Given the description of an element on the screen output the (x, y) to click on. 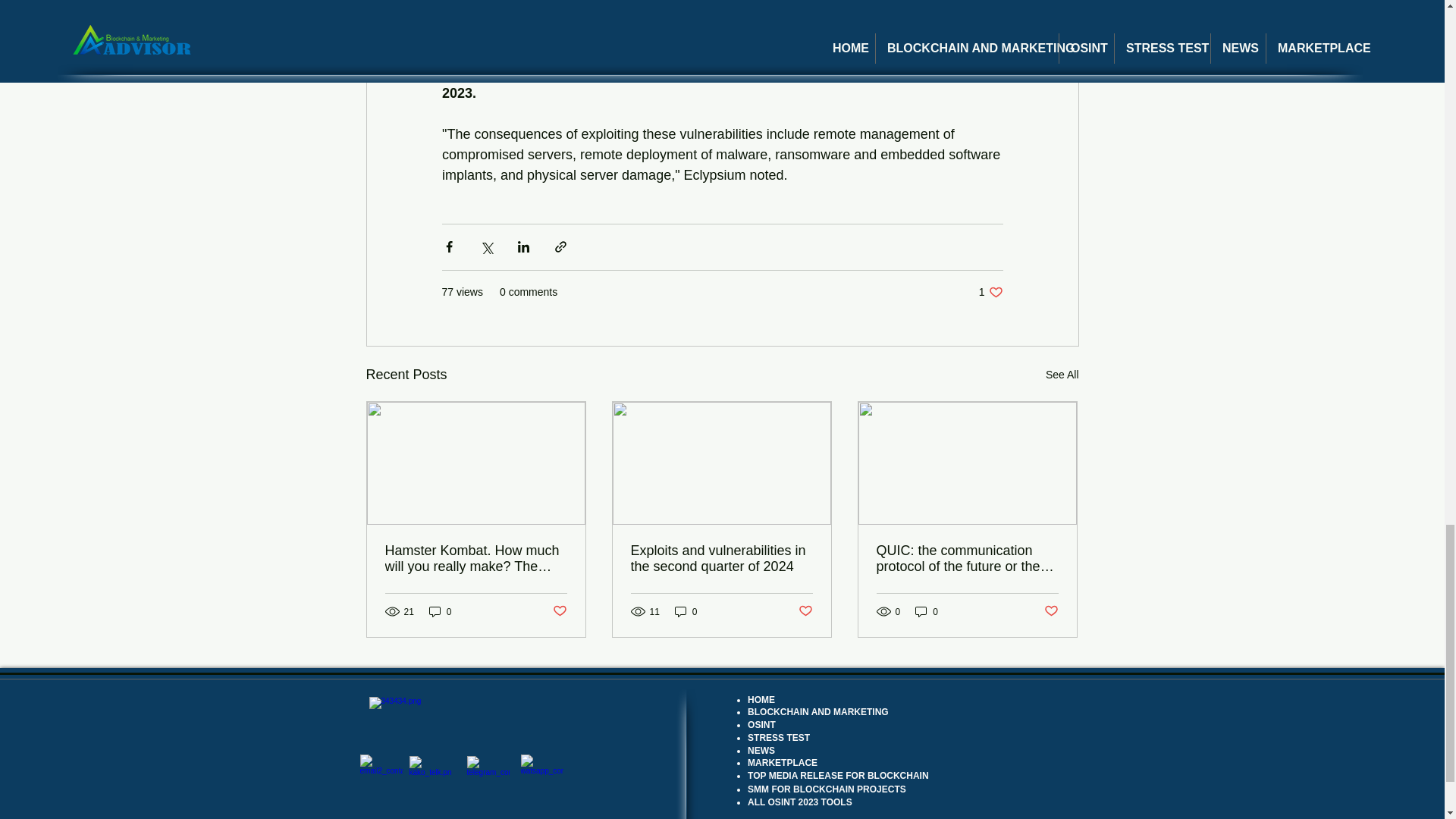
See All (1061, 374)
0 (685, 611)
Post not marked as liked (804, 611)
Post not marked as liked (1050, 611)
0 (926, 611)
Exploits and vulnerabilities in the second quarter of 2024 (990, 292)
0 (721, 558)
Post not marked as liked (440, 611)
